Given the description of an element on the screen output the (x, y) to click on. 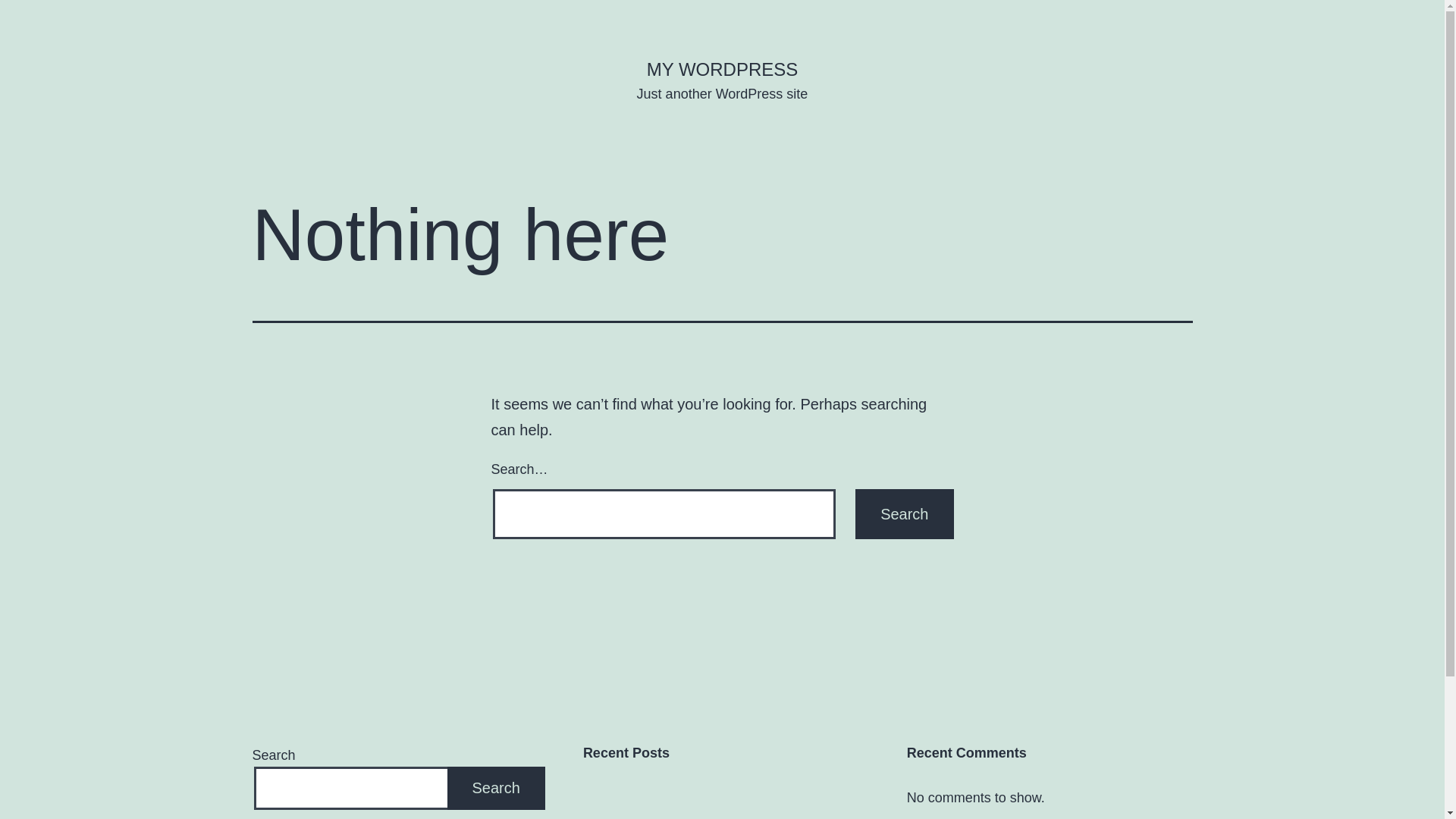
Search Element type: text (496, 787)
Search Element type: text (904, 514)
